Given the description of an element on the screen output the (x, y) to click on. 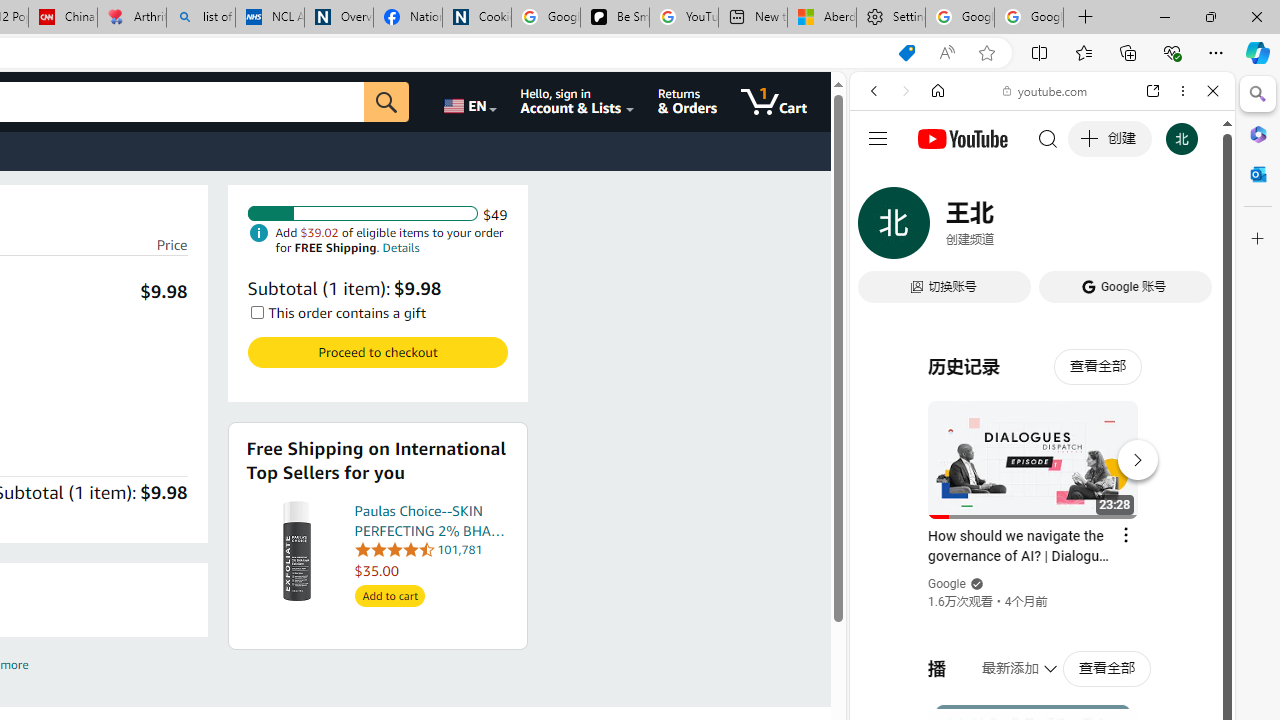
youtube.com (1046, 90)
Details (400, 246)
